Given the description of an element on the screen output the (x, y) to click on. 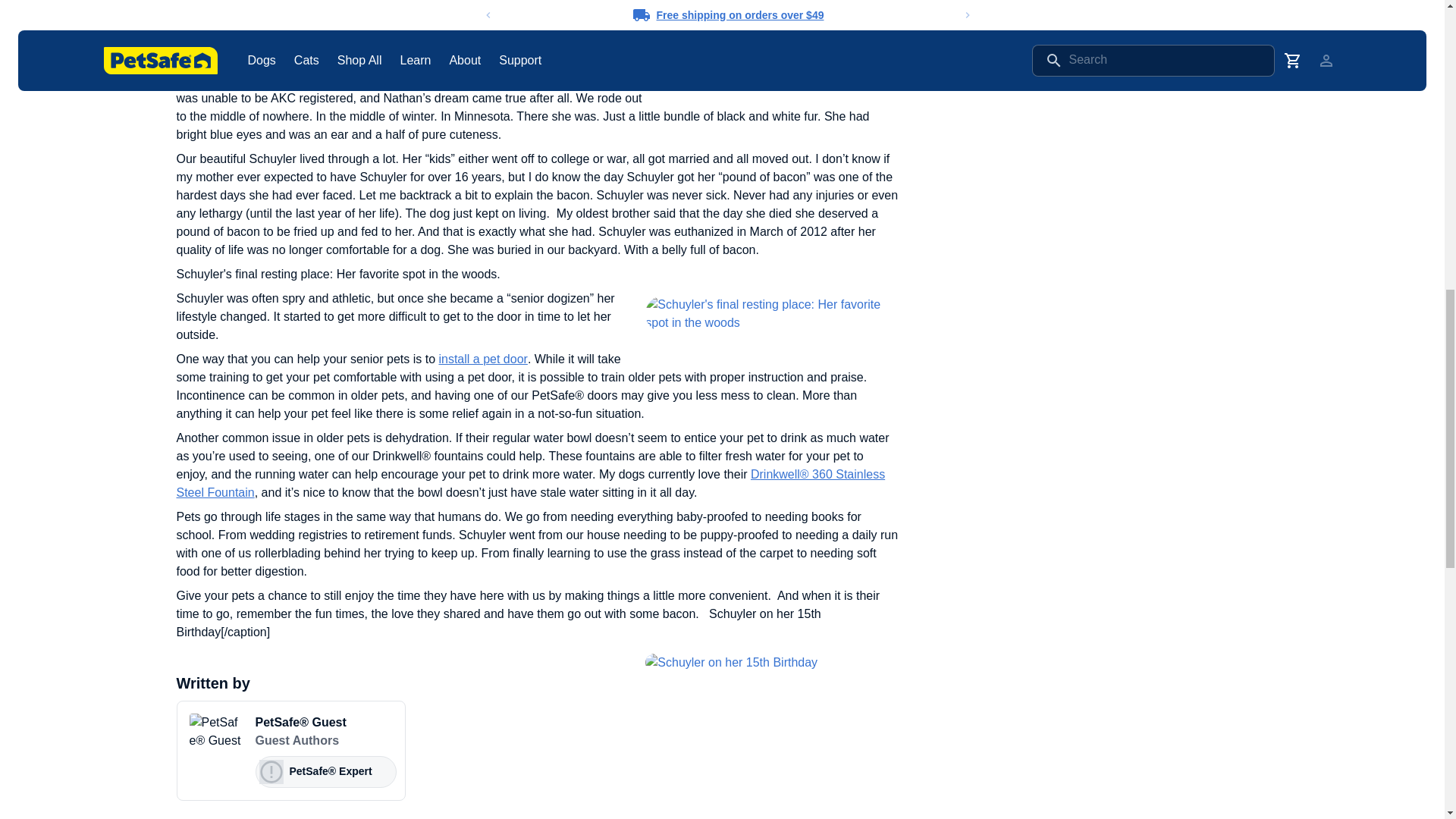
PetSafe Doors (482, 358)
Drinkwell 360 Stainless Steel Fountain (530, 482)
install a pet door (482, 358)
